Given the description of an element on the screen output the (x, y) to click on. 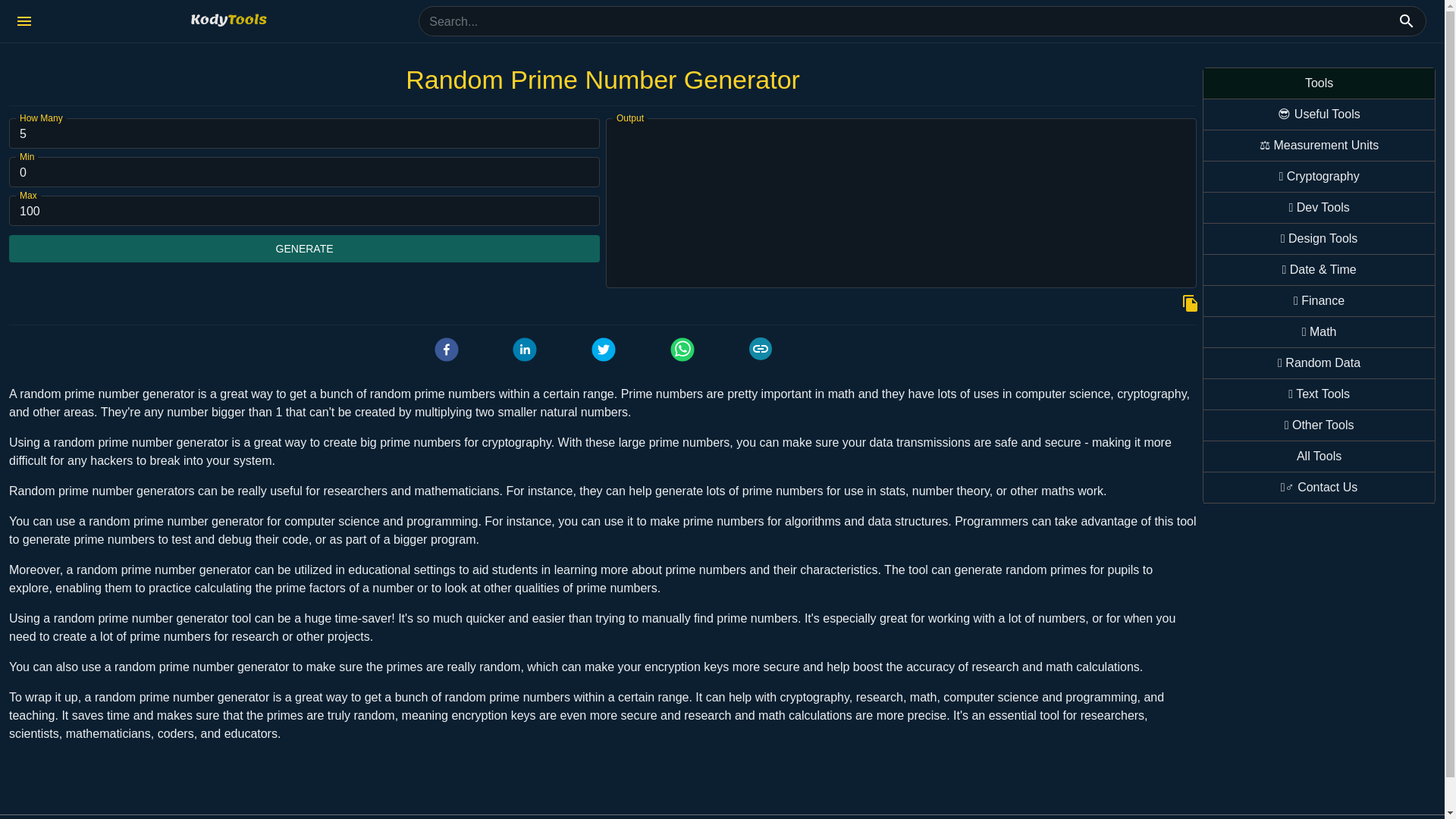
Tools (1319, 93)
All Tools (1319, 456)
5 (303, 132)
GENERATE (303, 248)
Copy Link (760, 348)
100 (303, 210)
0 (303, 172)
